Given the description of an element on the screen output the (x, y) to click on. 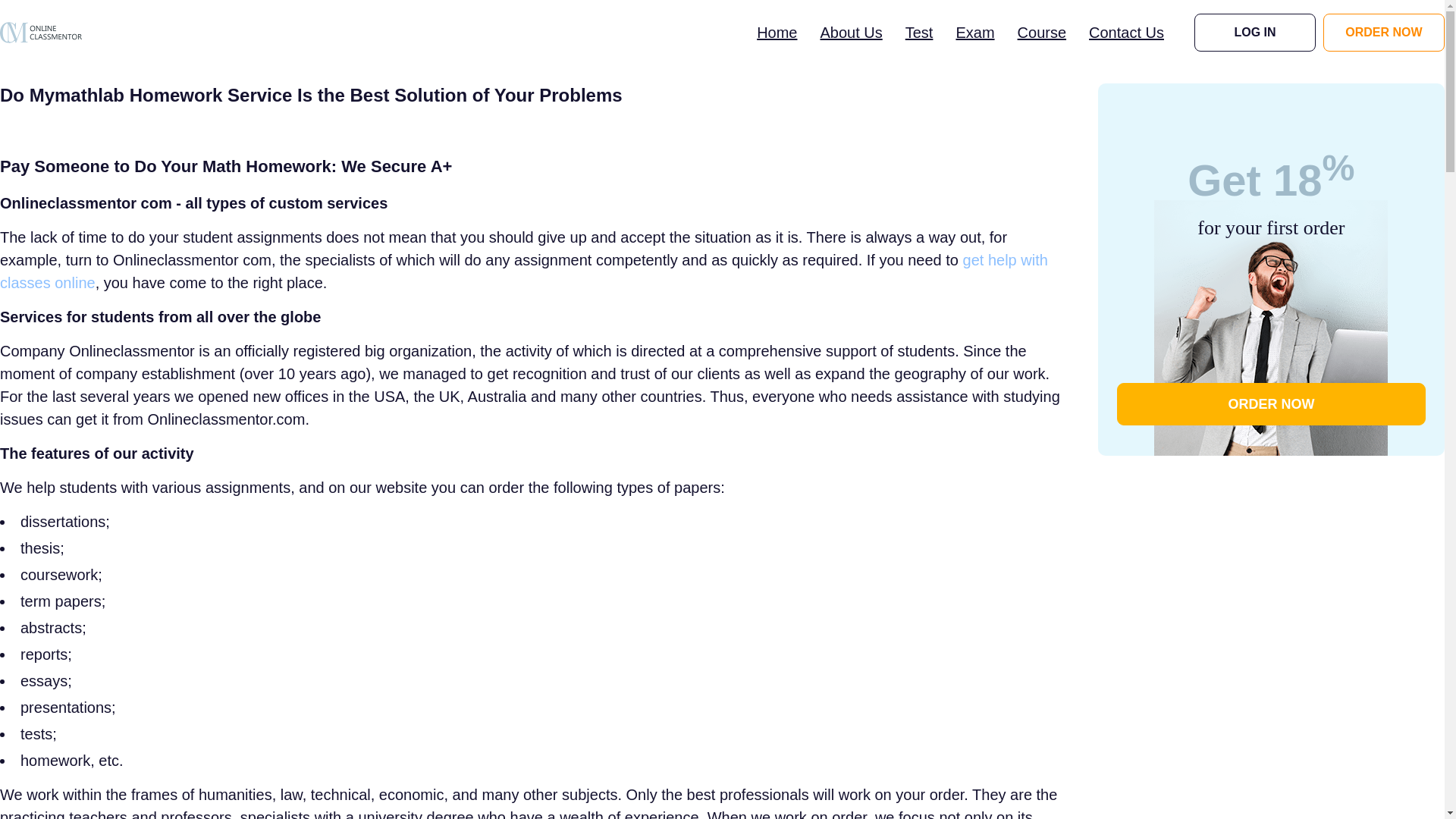
Contact Us (1126, 32)
LOG IN (1254, 32)
Exam (974, 32)
About Us (850, 32)
Course (1041, 32)
Home (776, 32)
ORDER NOW (1270, 404)
get help with classes online (524, 271)
Onlineclassmentor.com (40, 31)
